Given the description of an element on the screen output the (x, y) to click on. 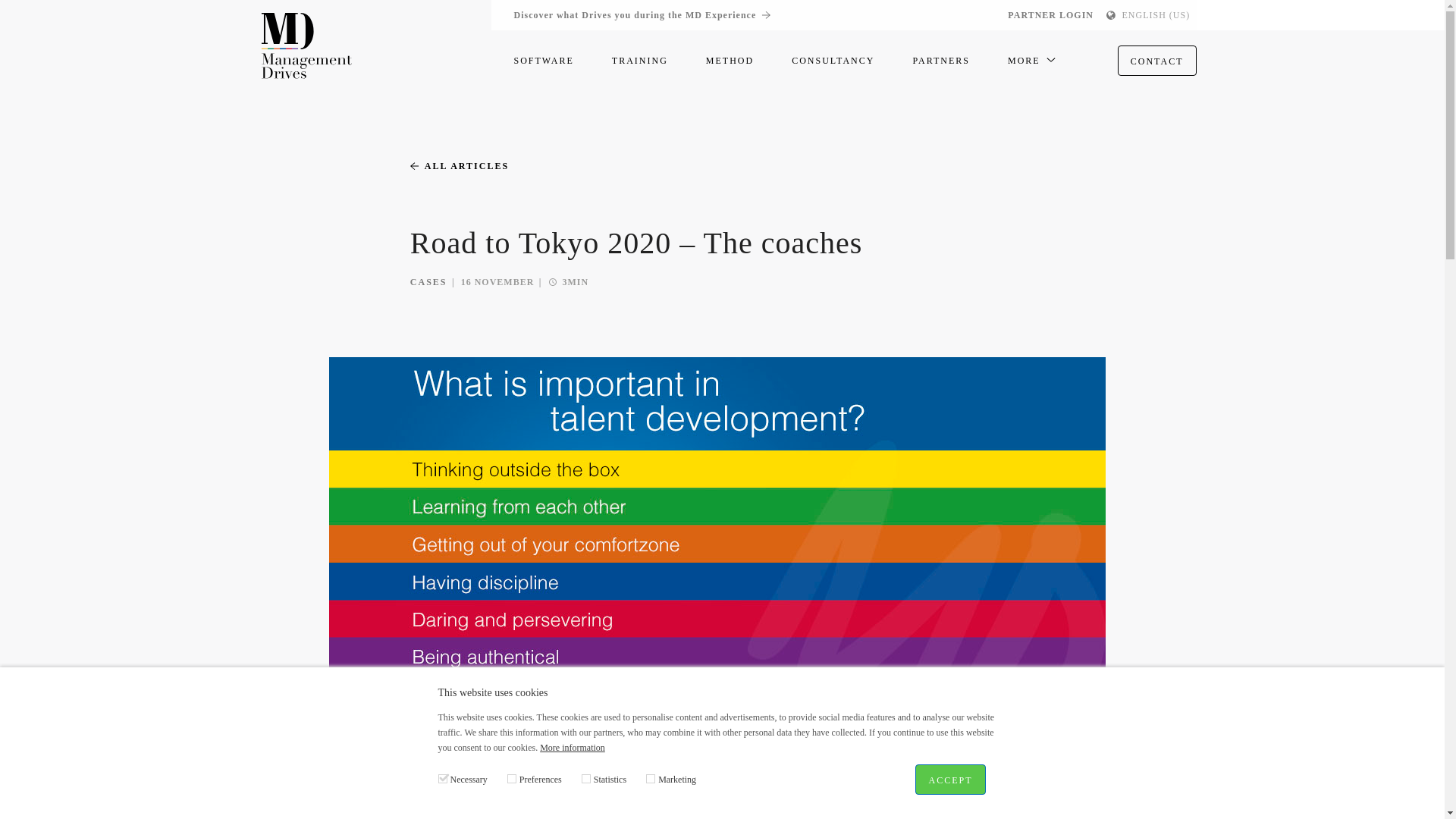
on (585, 777)
TRAINING (639, 60)
on (650, 777)
on (442, 777)
Discover what Drives you during the MD Experience (642, 15)
CONSULTANCY (833, 60)
PARTNERS (940, 60)
SOFTWARE (543, 60)
PARTNER LOGIN (1050, 15)
on (511, 777)
ALL ARTICLES (459, 165)
CONTACT (1157, 60)
